Given the description of an element on the screen output the (x, y) to click on. 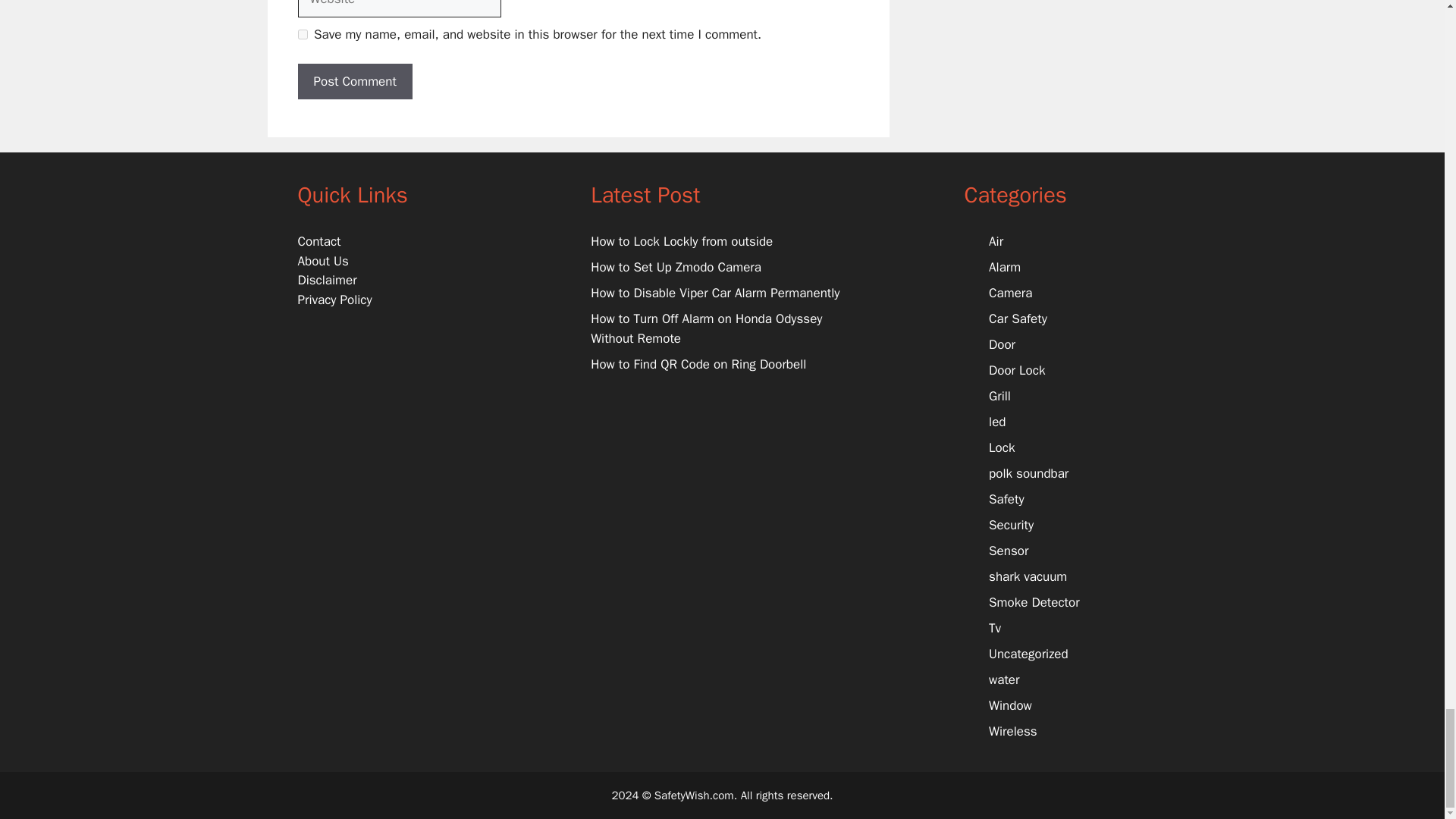
Post Comment (354, 81)
yes (302, 34)
